Given the description of an element on the screen output the (x, y) to click on. 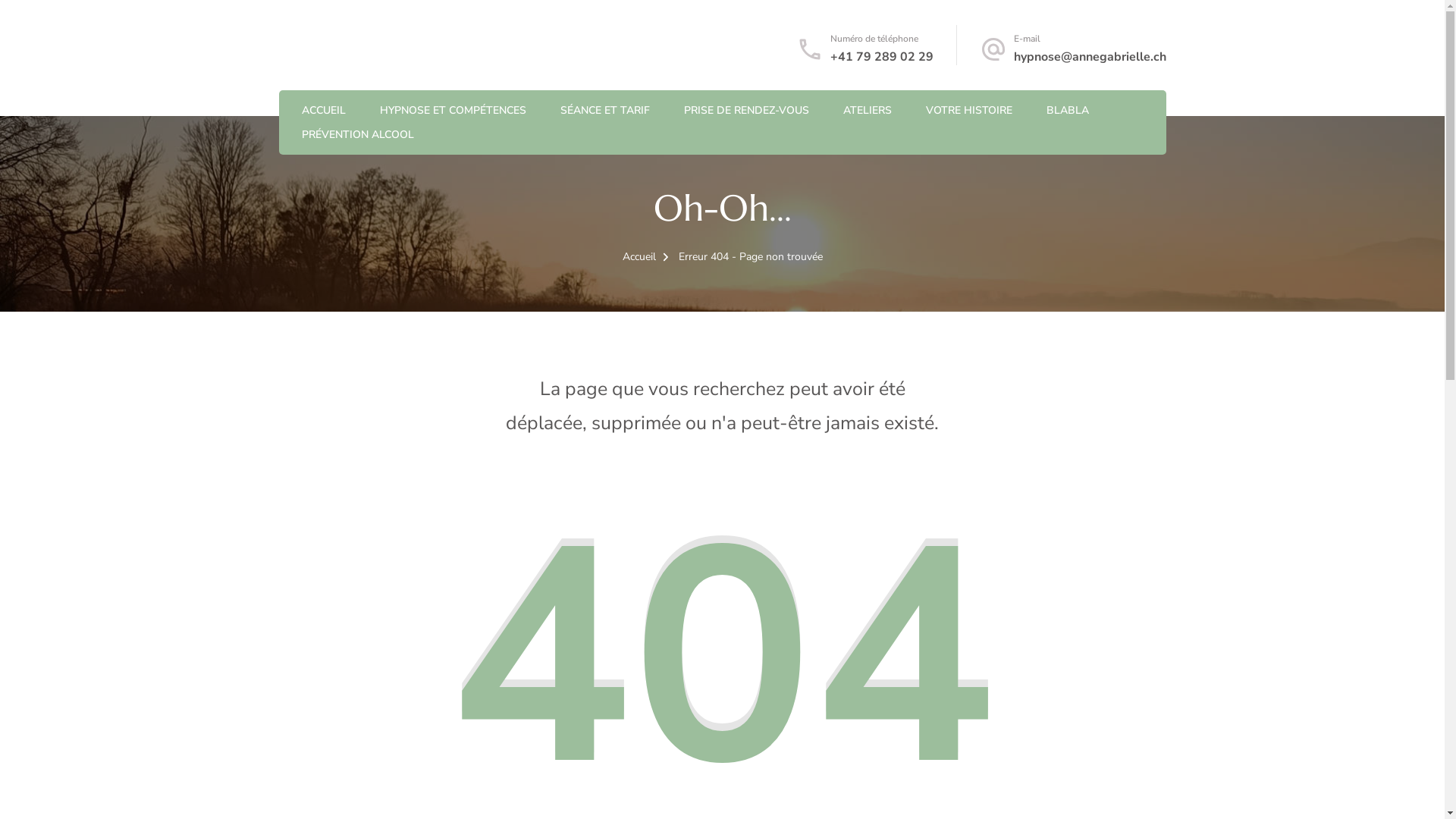
VOTRE HISTOIRE Element type: text (968, 111)
Accueil Element type: text (638, 256)
BLABLA Element type: text (1067, 111)
ACCUEIL Element type: text (323, 111)
+41 79 289 02 29 Element type: text (880, 56)
PRISE DE RENDEZ-VOUS Element type: text (746, 111)
hypnose@annegabrielle.ch Element type: text (1089, 56)
ATELIERS Element type: text (867, 111)
